Given the description of an element on the screen output the (x, y) to click on. 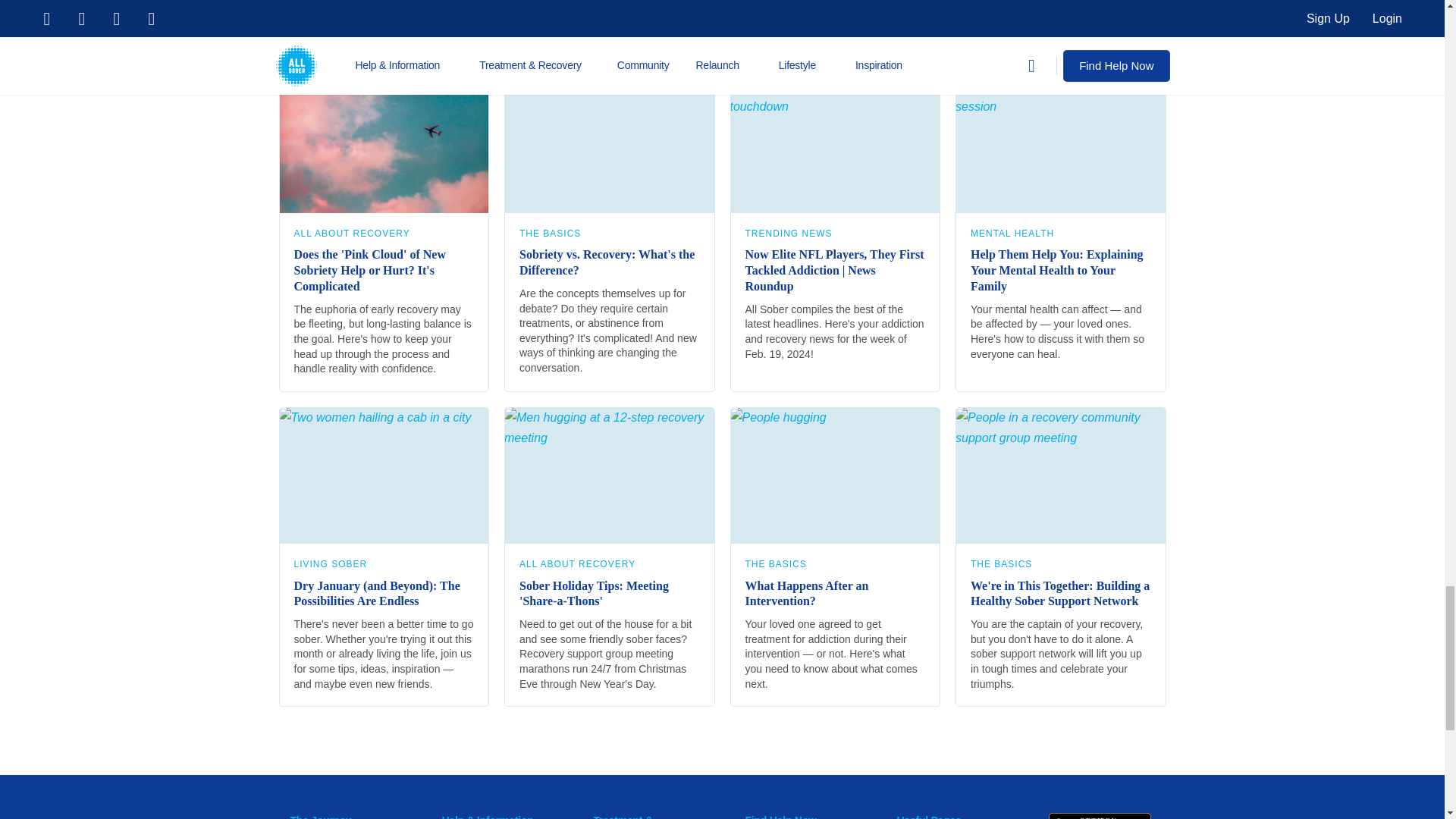
Family members in a counseling session - All Sober (1060, 144)
"The Thinker," by Auguste Rodin - All Sober (608, 144)
A recovery group share-a-thon - All Sober (608, 475)
Flying through pink clouds - All Sober (384, 144)
NFL players celebrate after a touchdown - All Sober (834, 144)
They accepted help after an intervention - All Sober (834, 475)
Starting the journey - All Sober (384, 475)
